Given the description of an element on the screen output the (x, y) to click on. 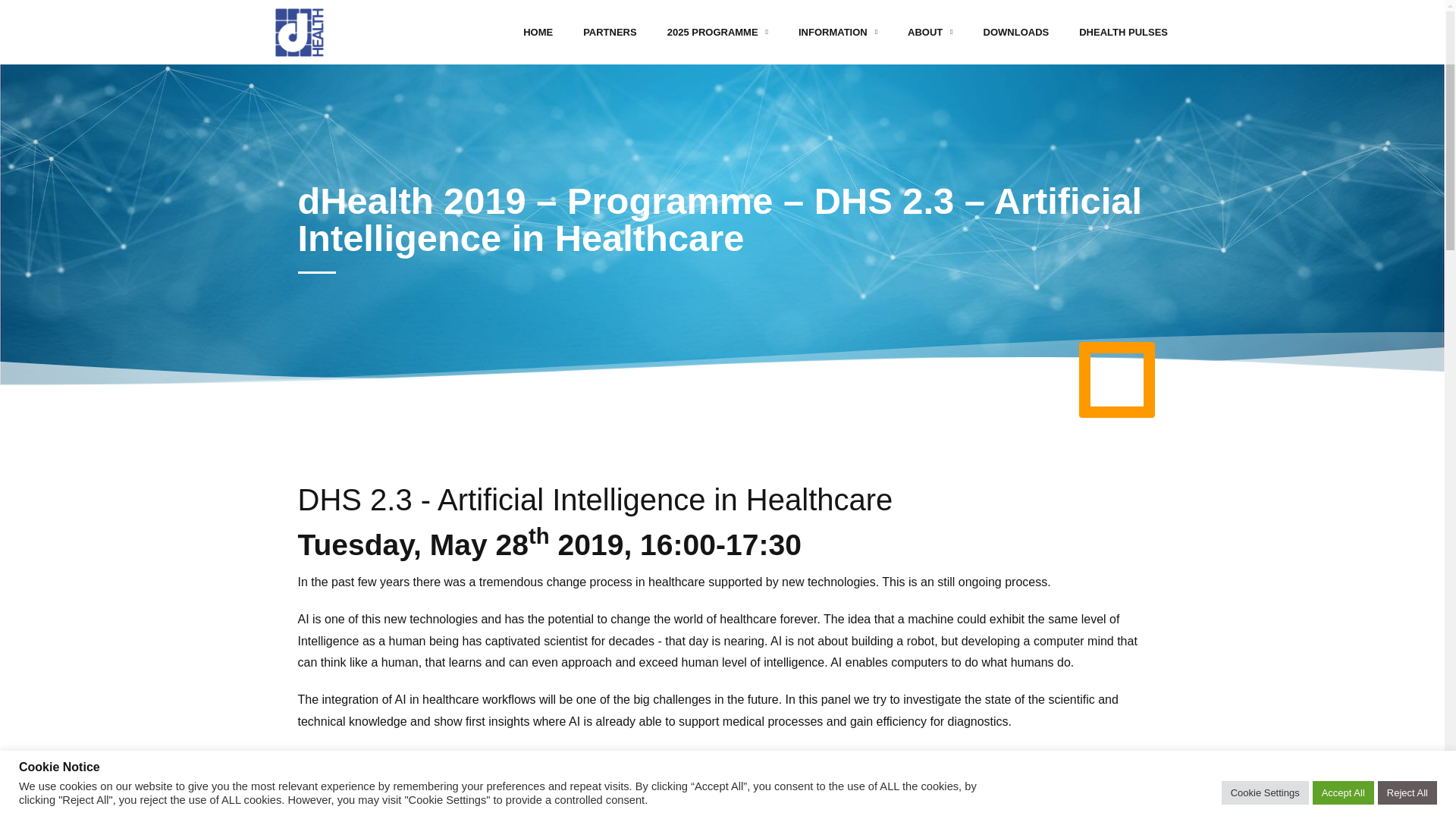
DOWNLOADS (1016, 32)
PARTNERS (609, 32)
INFORMATION (837, 32)
ABOUT (930, 32)
DHEALTH PULSES (1123, 32)
HOME (537, 32)
2025 PROGRAMME (717, 32)
